Given the description of an element on the screen output the (x, y) to click on. 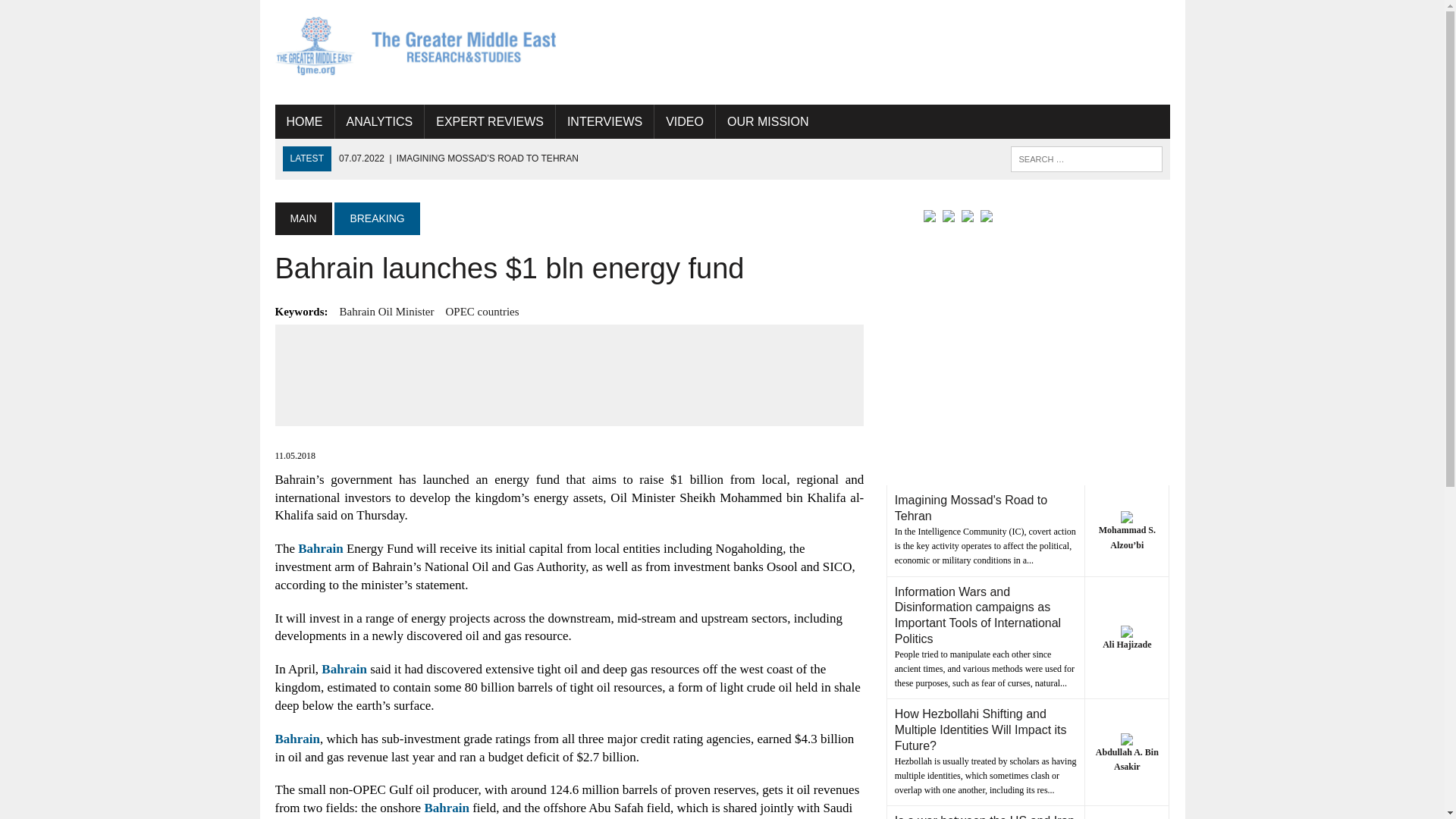
OUR MISSION (768, 121)
Bahrain (343, 668)
Search (75, 14)
VIDEO (683, 121)
Bahrain Oil Minister (386, 311)
BREAKING (376, 218)
HOME (304, 121)
Bahrain (445, 807)
Bahrain (320, 548)
The Greater Middle East (416, 45)
